Given the description of an element on the screen output the (x, y) to click on. 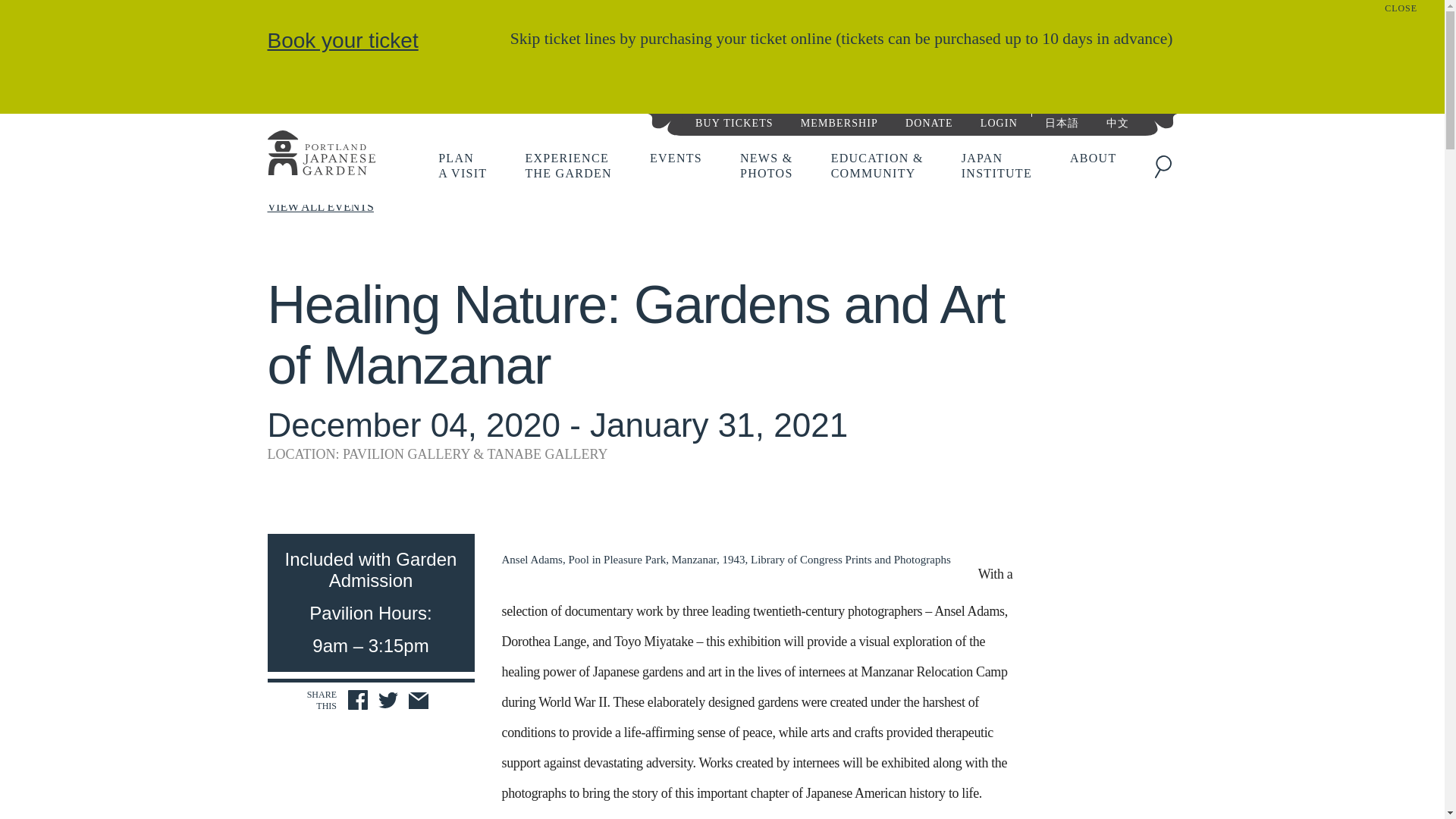
MEMBERSHIP (839, 120)
Click to email a link to a friend (462, 165)
Click to share on Facebook (418, 701)
BUY TICKETS (357, 700)
Click to share on Twitter (734, 120)
DONATE (387, 701)
Portland Japanese Garden (928, 120)
Book your ticket (320, 155)
LOGIN (567, 165)
